Given the description of an element on the screen output the (x, y) to click on. 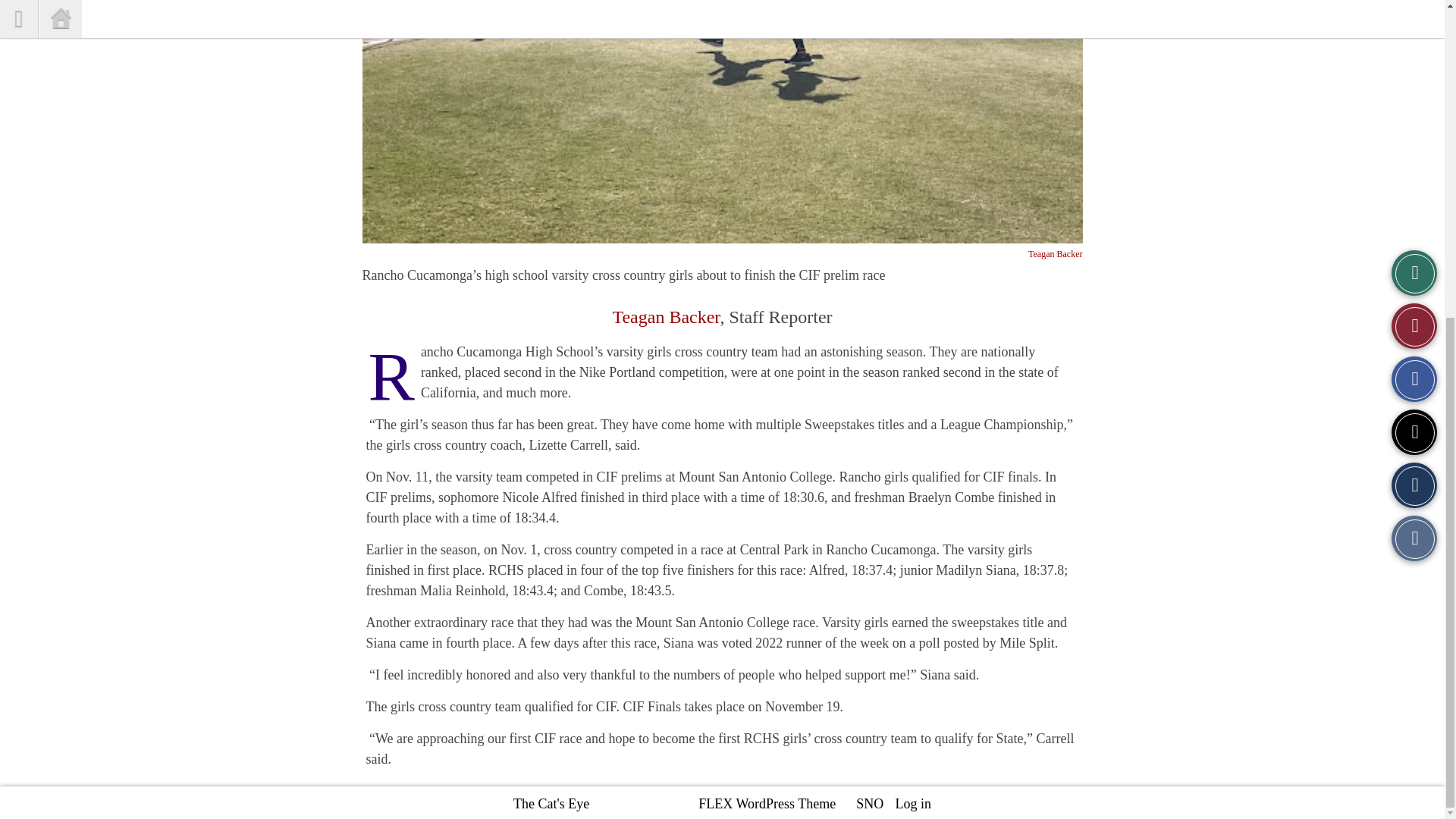
Teagan Backer (665, 316)
Log in (913, 291)
Teagan Backer (1054, 253)
SNO (869, 291)
Print (1414, 26)
Print this Story (1414, 26)
The Cat's Eye (551, 291)
FLEX WordPress Theme (766, 291)
